Given the description of an element on the screen output the (x, y) to click on. 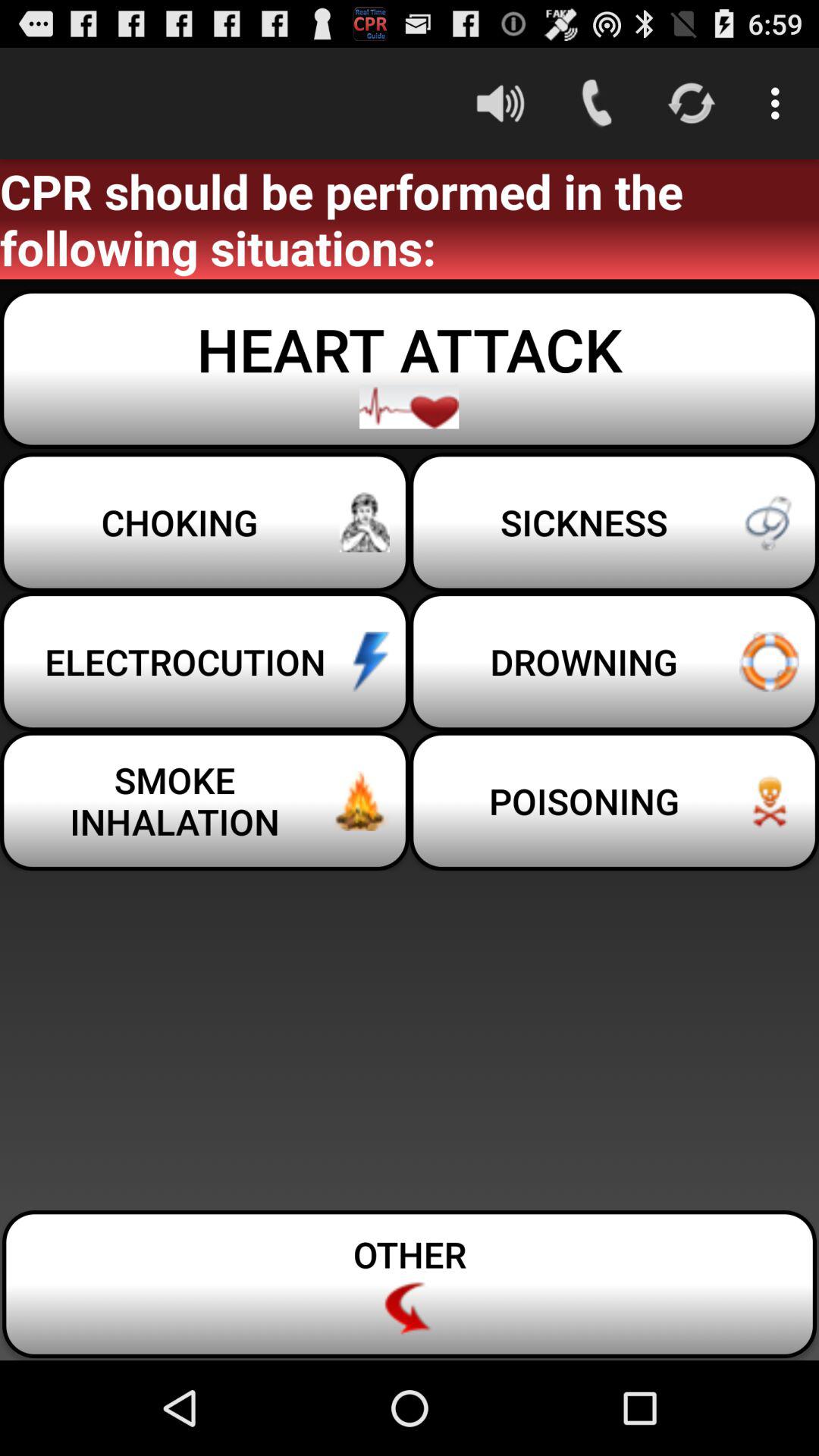
flip until the other button (409, 1284)
